Given the description of an element on the screen output the (x, y) to click on. 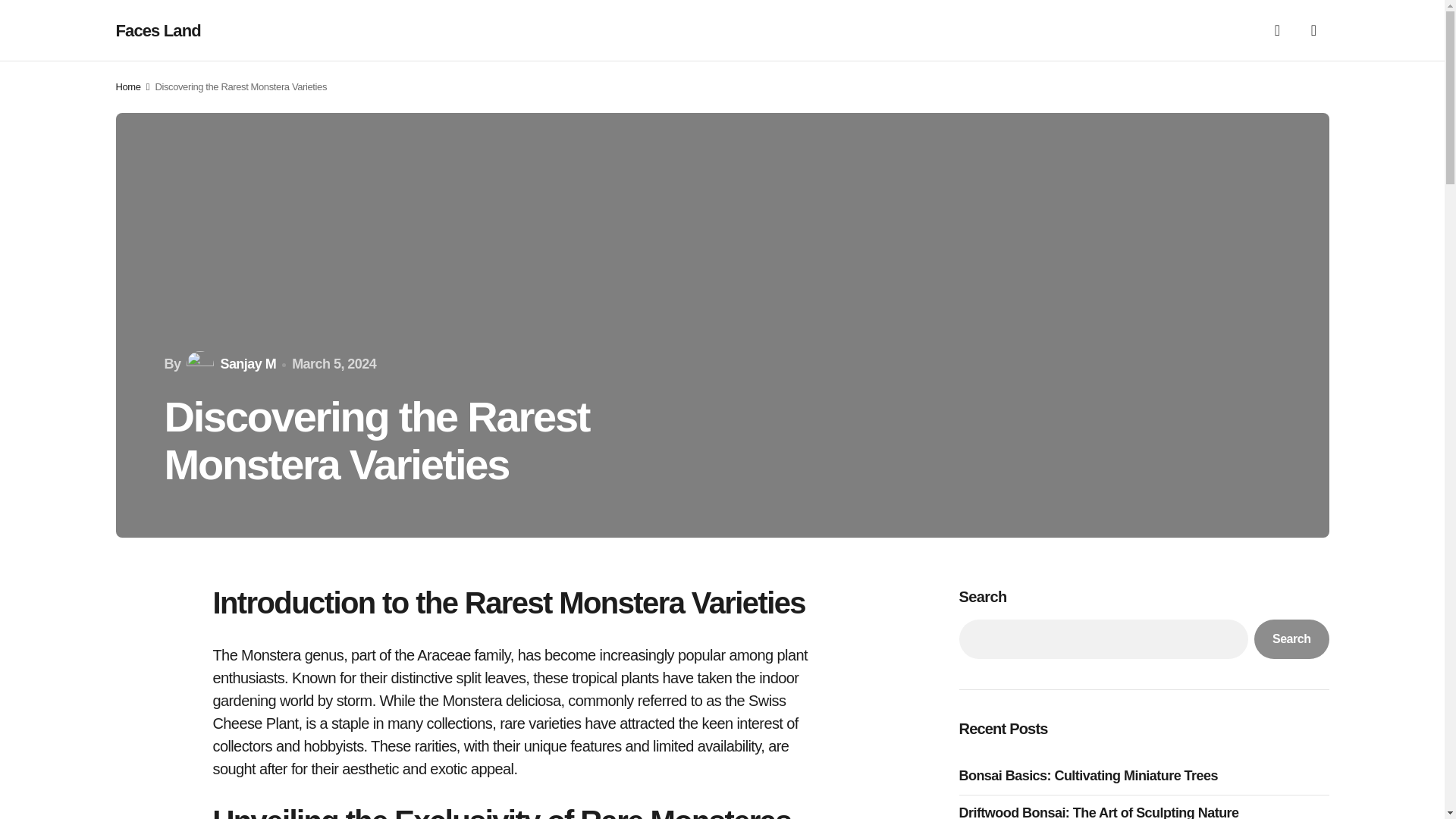
Faces Land (157, 30)
Driftwood Bonsai: The Art of Sculpting Nature (1102, 811)
Home (127, 86)
Search (1291, 638)
Bonsai Basics: Cultivating Miniature Trees (1091, 775)
Sanjay M (229, 364)
